Given the description of an element on the screen output the (x, y) to click on. 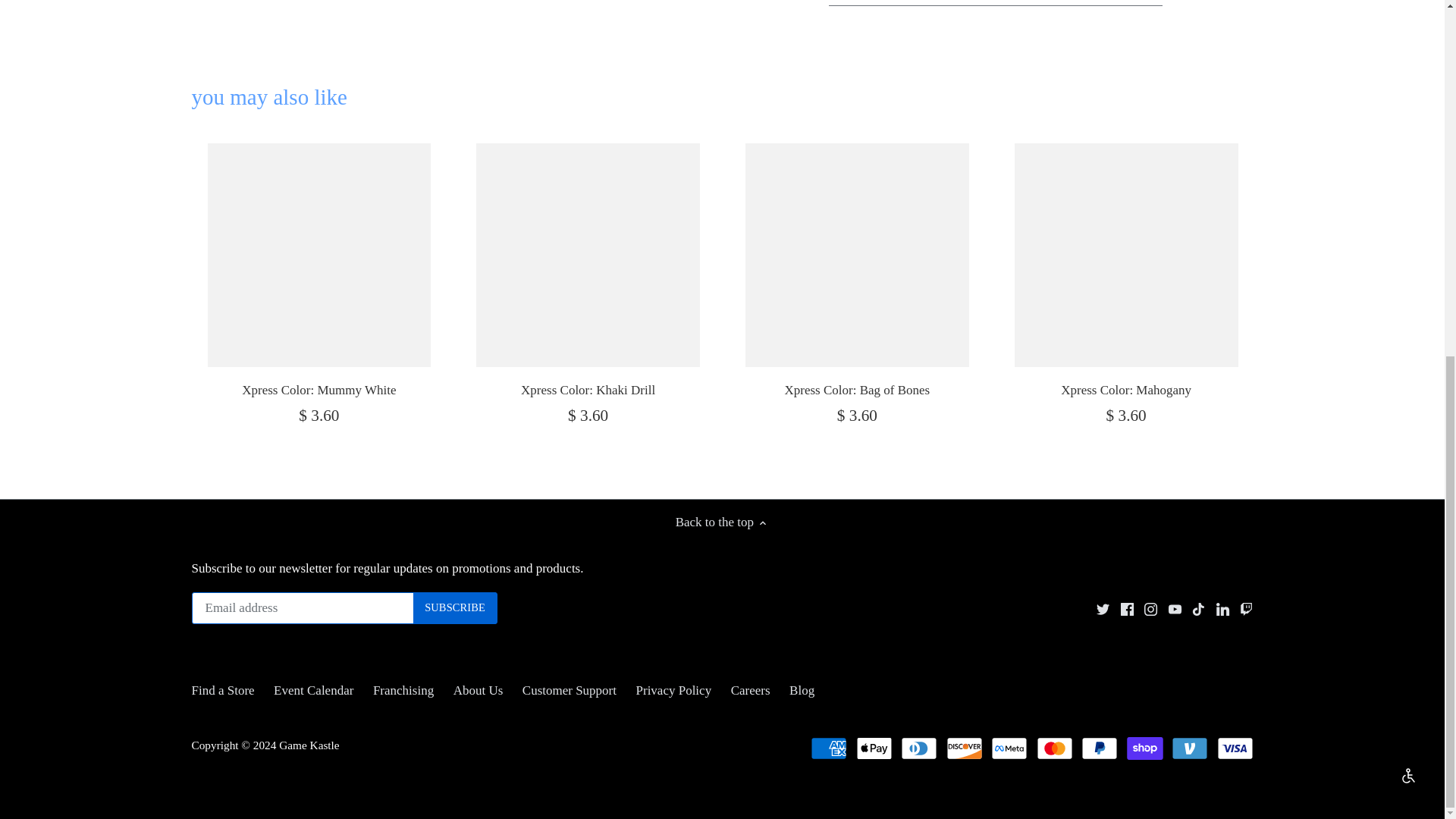
Subscribe (455, 608)
Instagram (1150, 608)
Twitter (1102, 608)
Facebook (1127, 608)
